Given the description of an element on the screen output the (x, y) to click on. 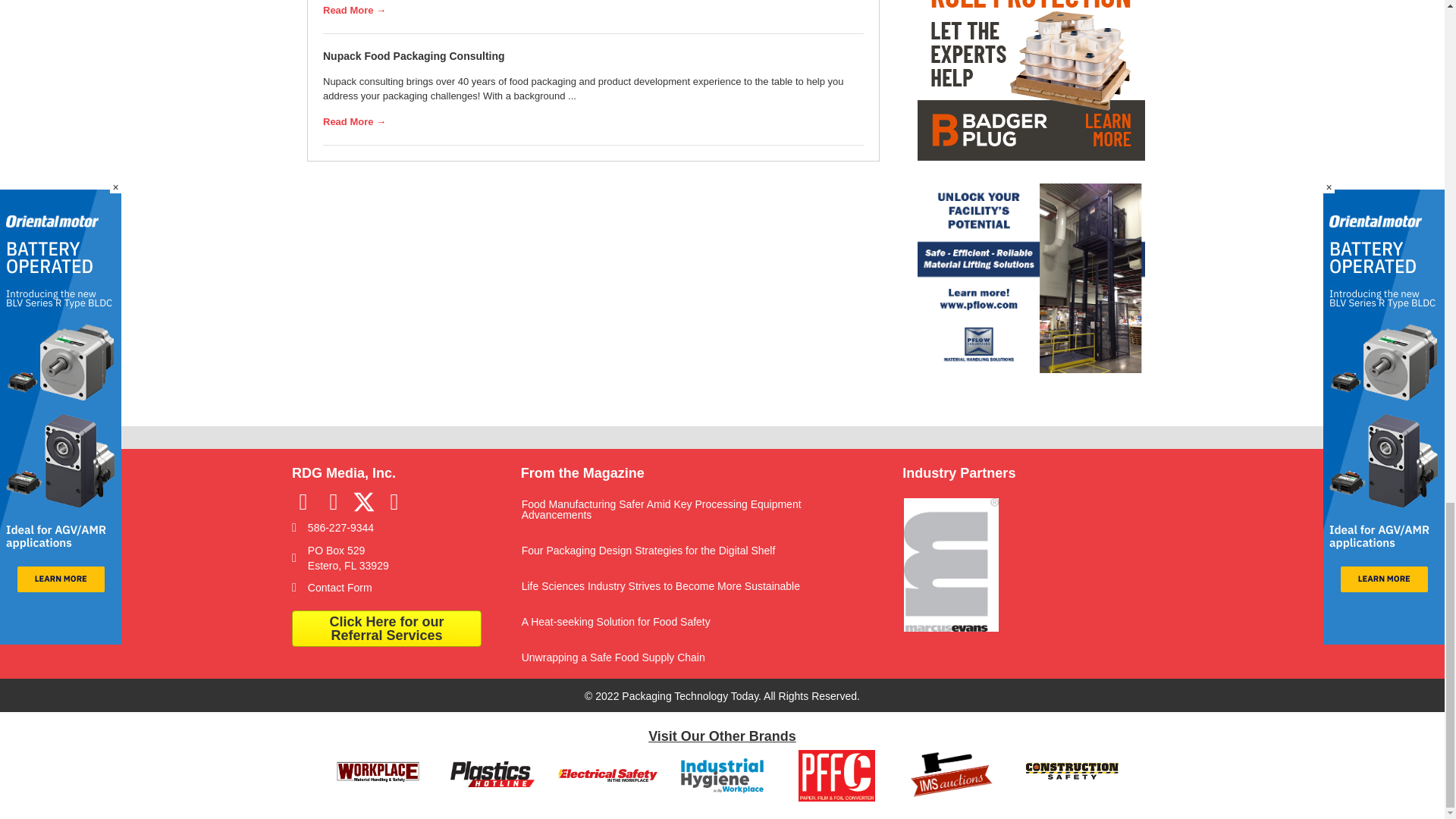
LinkedIn (333, 501)
Facebook (303, 501)
Nupack Food Packaging Consulting (414, 55)
